Given the description of an element on the screen output the (x, y) to click on. 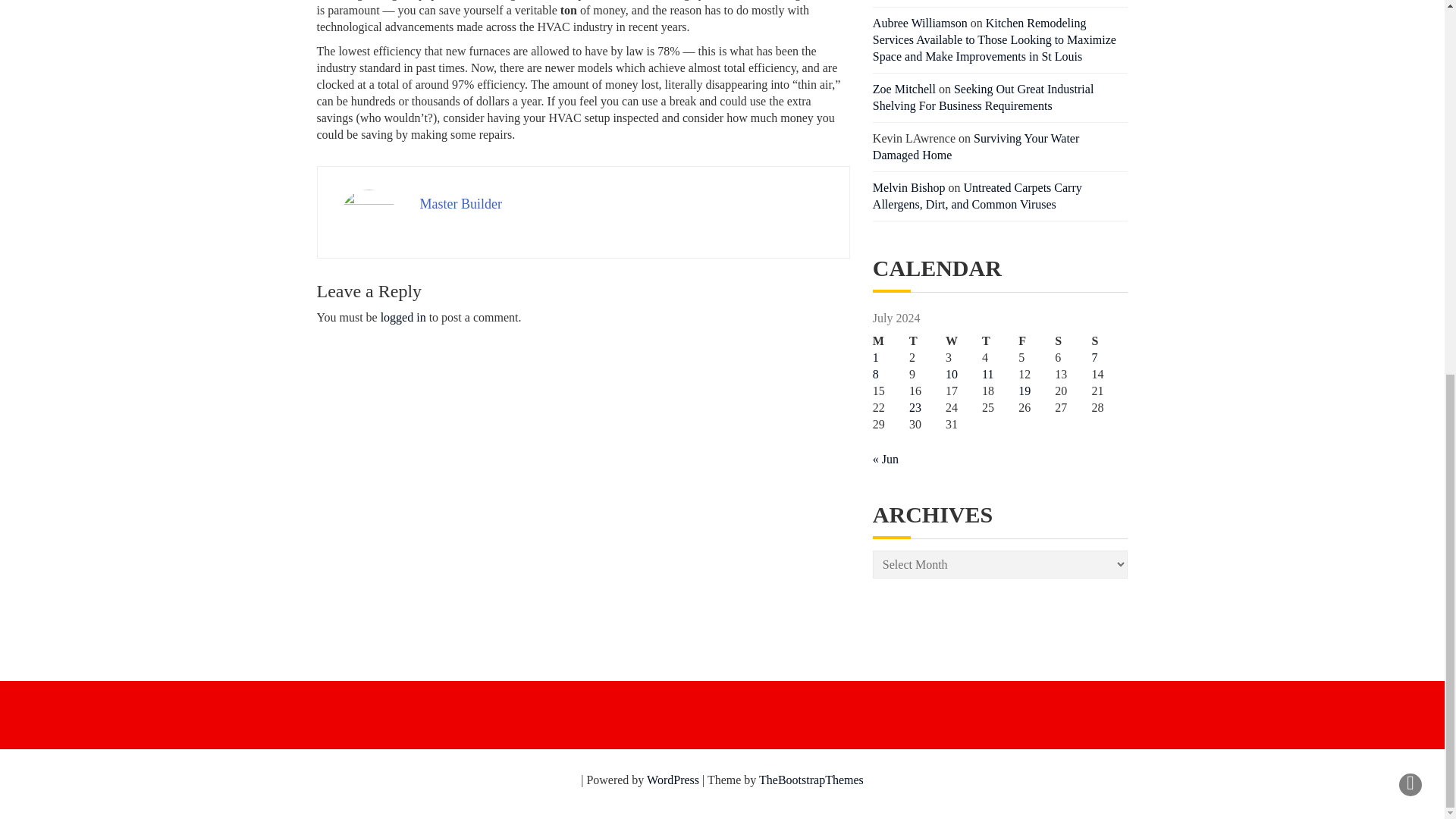
23 (914, 407)
Saturday (1072, 340)
Wednesday (962, 340)
Thursday (999, 340)
Untreated Carpets Carry Allergens, Dirt, and Common Viruses (976, 195)
Sunday (1108, 340)
Melvin Bishop (908, 187)
Zoe Mitchell (904, 88)
Monday (890, 340)
WordPress (672, 779)
Friday (1035, 340)
Tuesday (926, 340)
19 (1023, 390)
Aubree Williamson (920, 22)
